Given the description of an element on the screen output the (x, y) to click on. 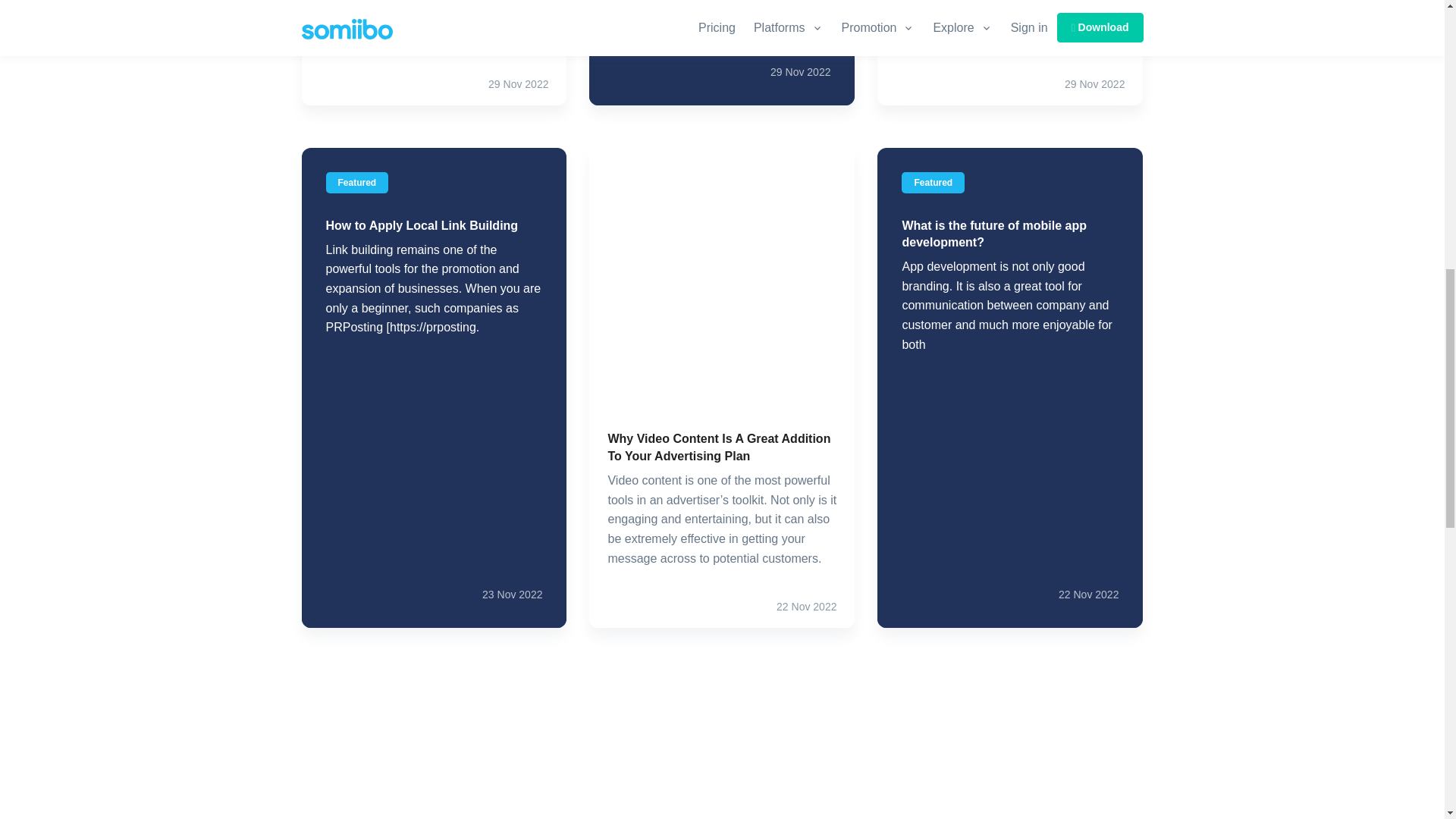
What is the future of mobile app development? (993, 233)
Advertisement (721, 750)
How to Apply Local Link Building (422, 224)
